Given the description of an element on the screen output the (x, y) to click on. 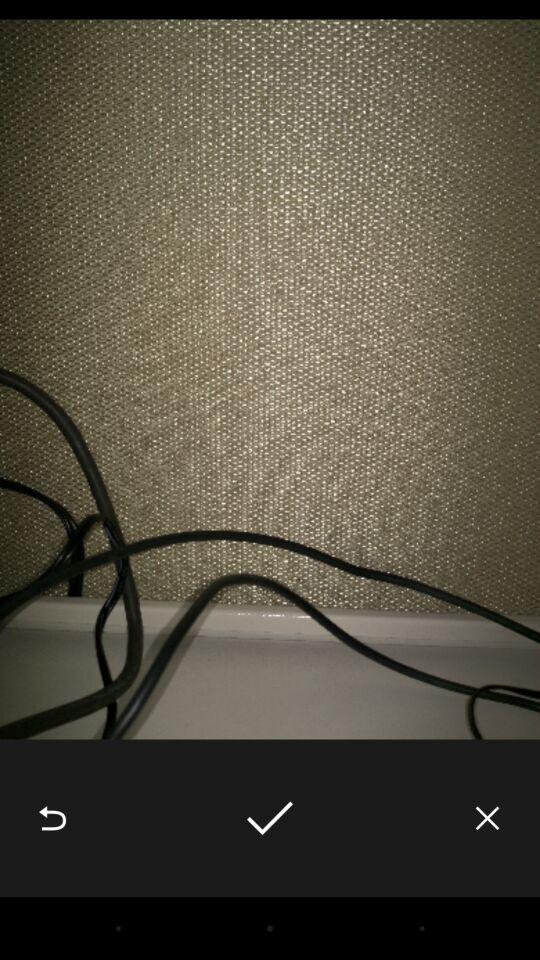
turn on the item at the bottom right corner (487, 817)
